Given the description of an element on the screen output the (x, y) to click on. 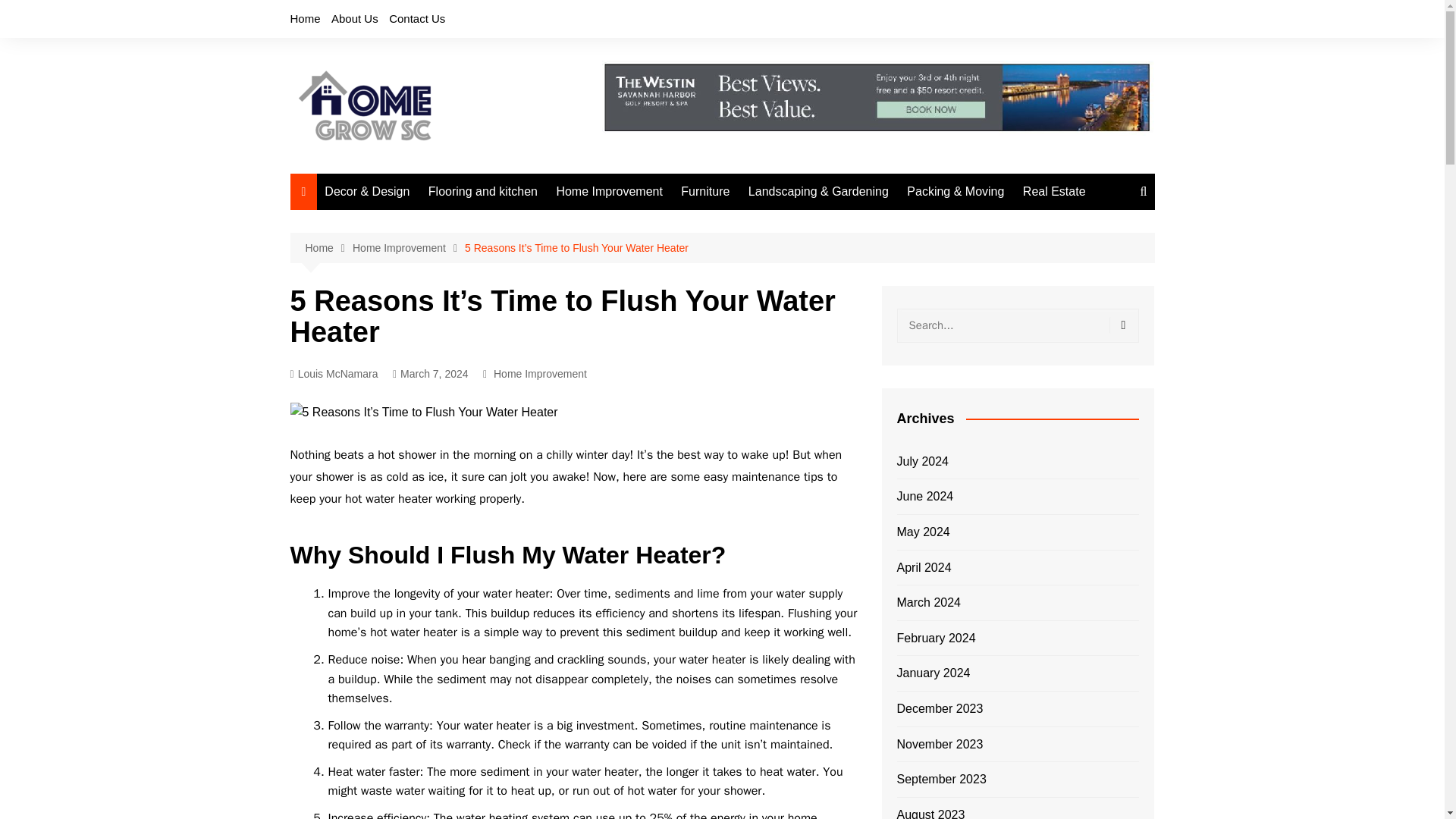
Home Improvement (539, 373)
Home (304, 18)
Home Improvement (608, 191)
Real Estate (1053, 191)
About Us (354, 18)
Flooring and kitchen (482, 191)
Home Improvement (408, 248)
Home (328, 248)
March 7, 2024 (430, 374)
Louis McNamara (333, 374)
Contact Us (416, 18)
Furniture (704, 191)
